Given the description of an element on the screen output the (x, y) to click on. 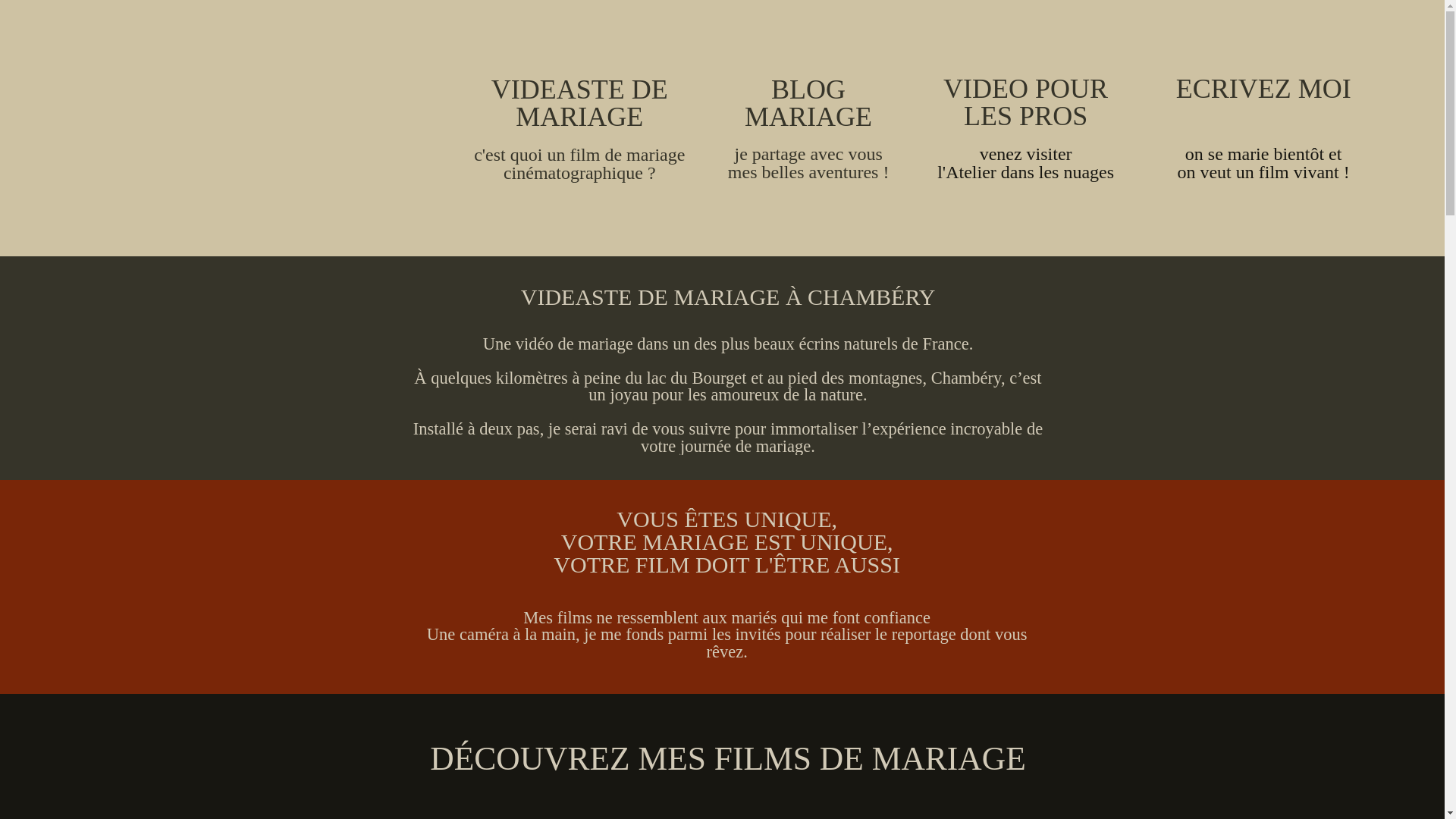
ECRIVEZ MOI (1263, 88)
VIDEO POUR LES PROS (1025, 102)
VIDEASTE DE MARIAGE (580, 102)
BLOG MARIAGE (808, 102)
